Given the description of an element on the screen output the (x, y) to click on. 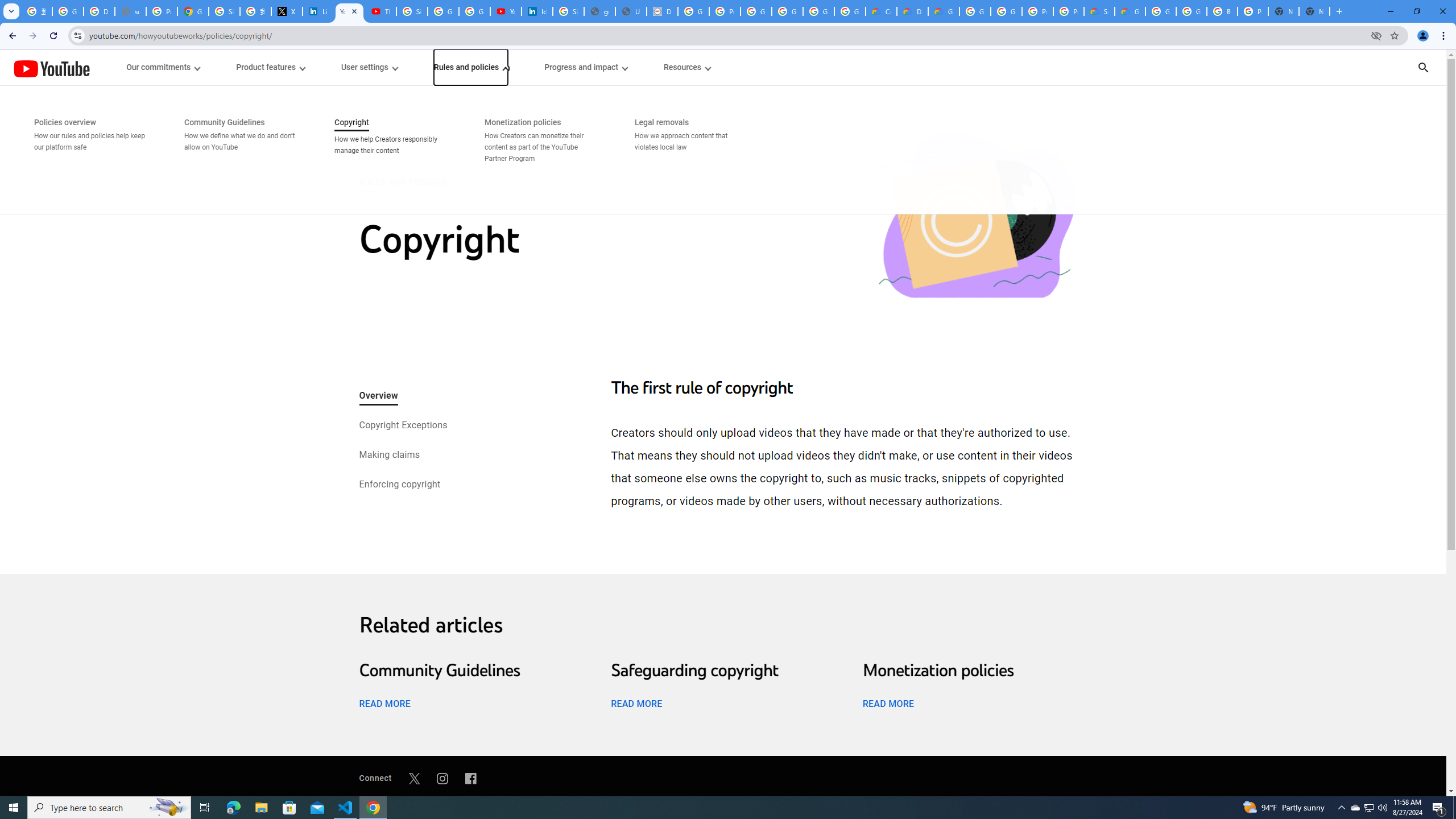
Google Cloud Platform (1190, 11)
Rules and policies menupopup (470, 67)
Privacy Help Center - Policies Help (161, 11)
View site information (77, 35)
Product features menupopup (269, 67)
How YouTube Works (51, 66)
LinkedIn Privacy Policy (318, 11)
Support Hub | Google Cloud (1098, 11)
Instagram (442, 778)
Google Cloud Platform (1005, 11)
JUMP TO CONTENT (118, 67)
